Given the description of an element on the screen output the (x, y) to click on. 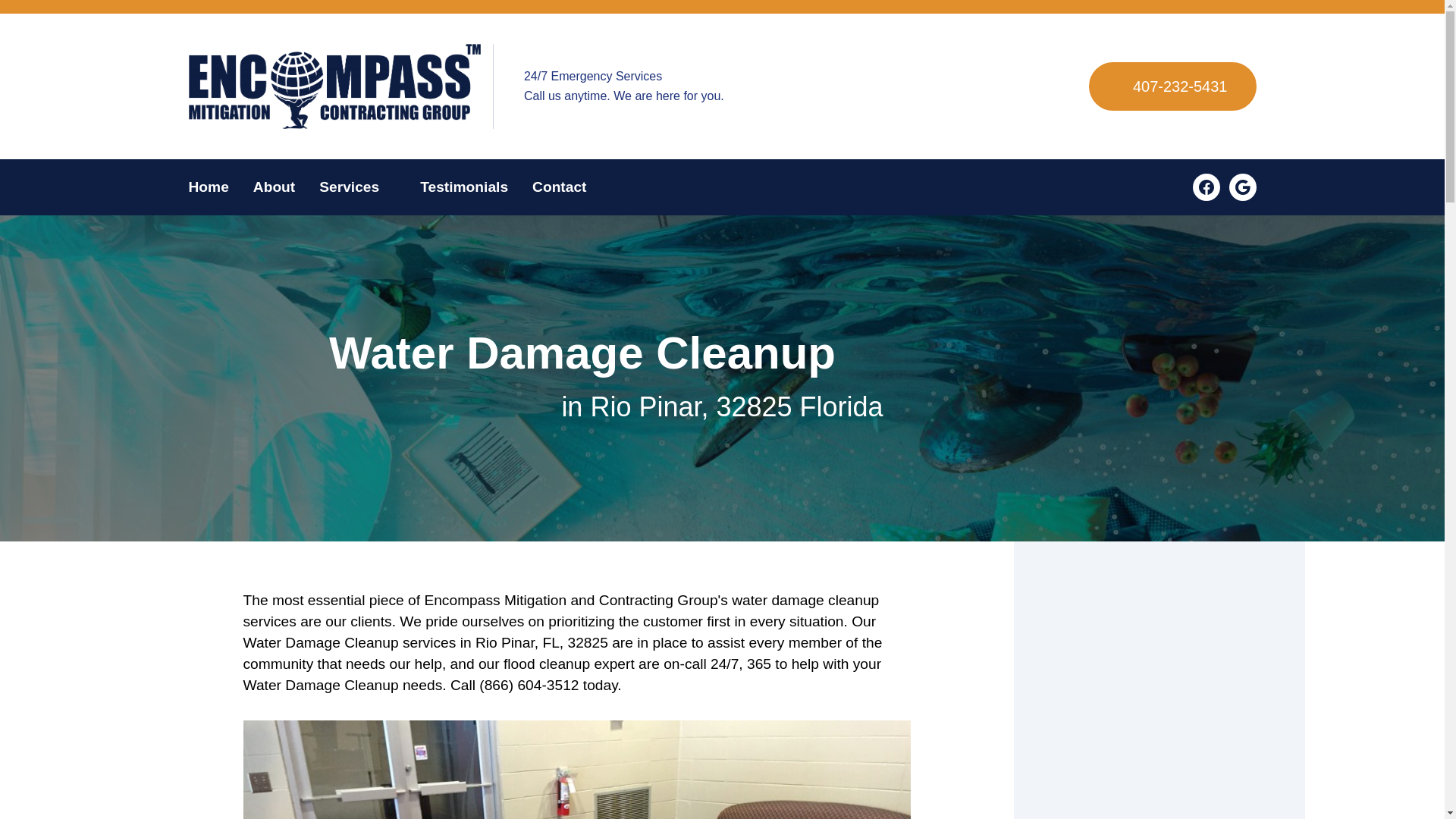
Facebook (1206, 186)
Contact (552, 186)
407-232-5431 (1172, 86)
Google (1241, 186)
Encompass Mitigation and Contracting Group, LLC. (333, 86)
Home (213, 186)
Testimonials (463, 186)
About (274, 186)
Services (357, 186)
